Given the description of an element on the screen output the (x, y) to click on. 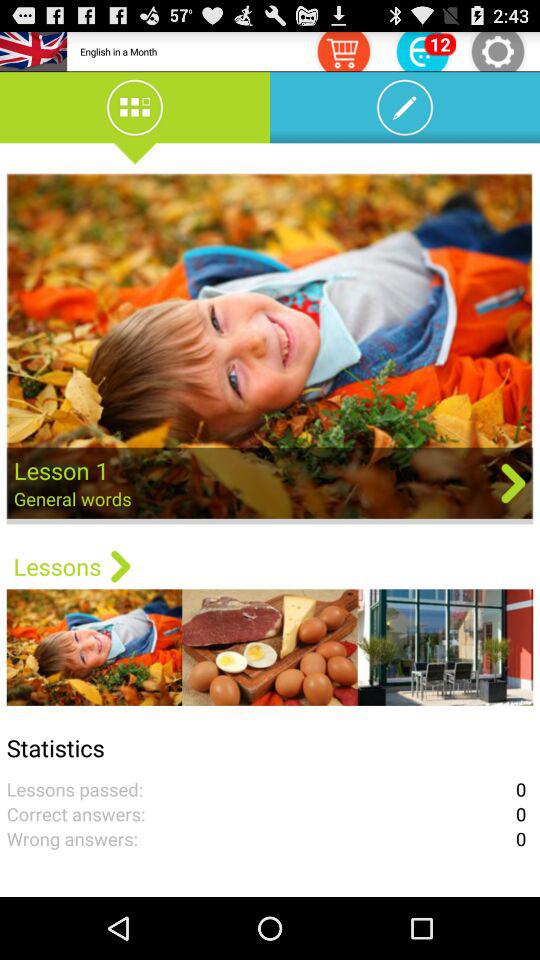
your notifications (423, 50)
